Given the description of an element on the screen output the (x, y) to click on. 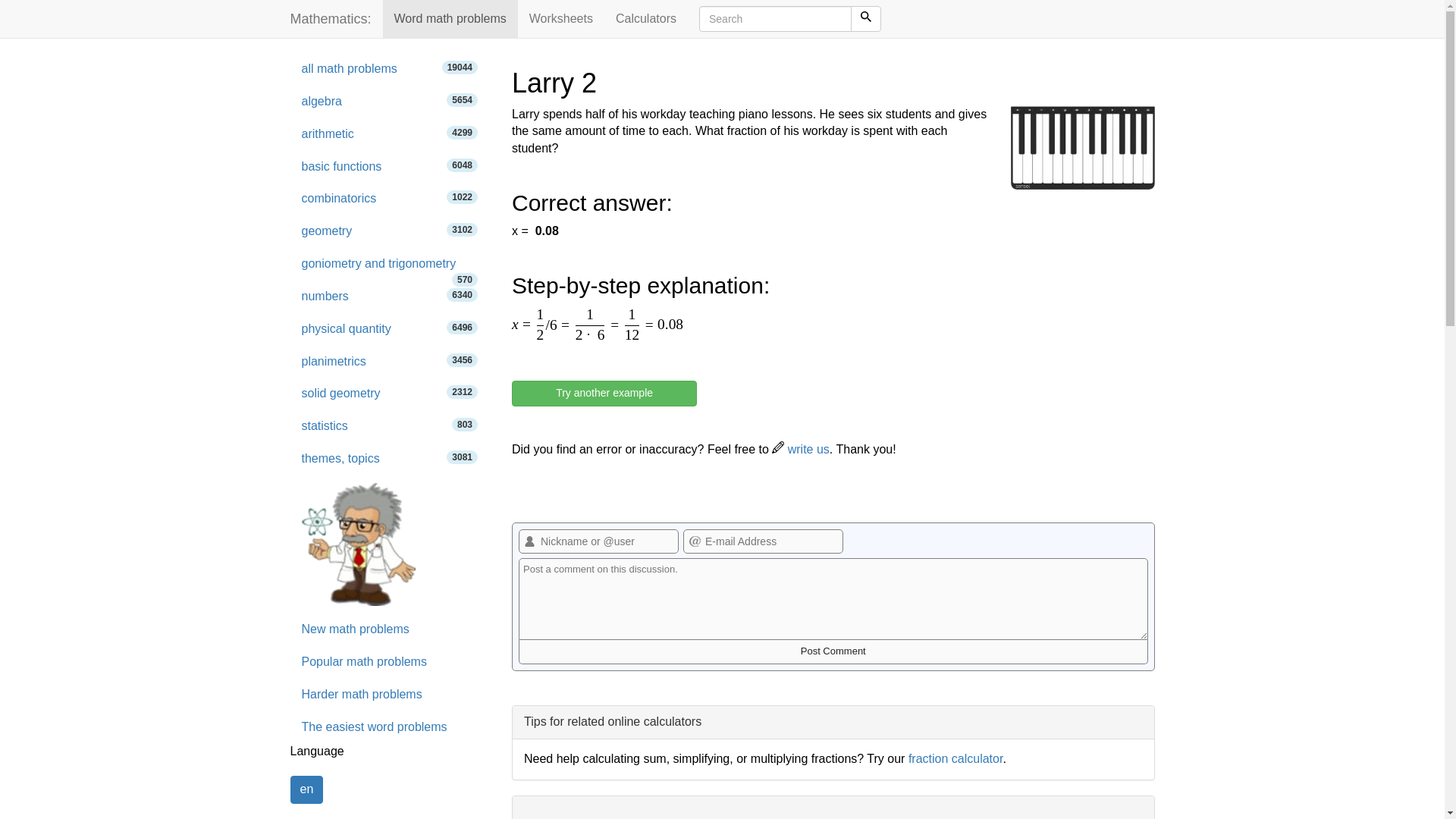
New math problems (389, 426)
Nickname (389, 69)
Math examples of algebra (389, 629)
The number of examples: 4299 (598, 541)
Elementary arithmetic (389, 101)
Math examples of basic functions (461, 132)
The number of examples: 570 (561, 18)
Calculators (389, 166)
